Given the description of an element on the screen output the (x, y) to click on. 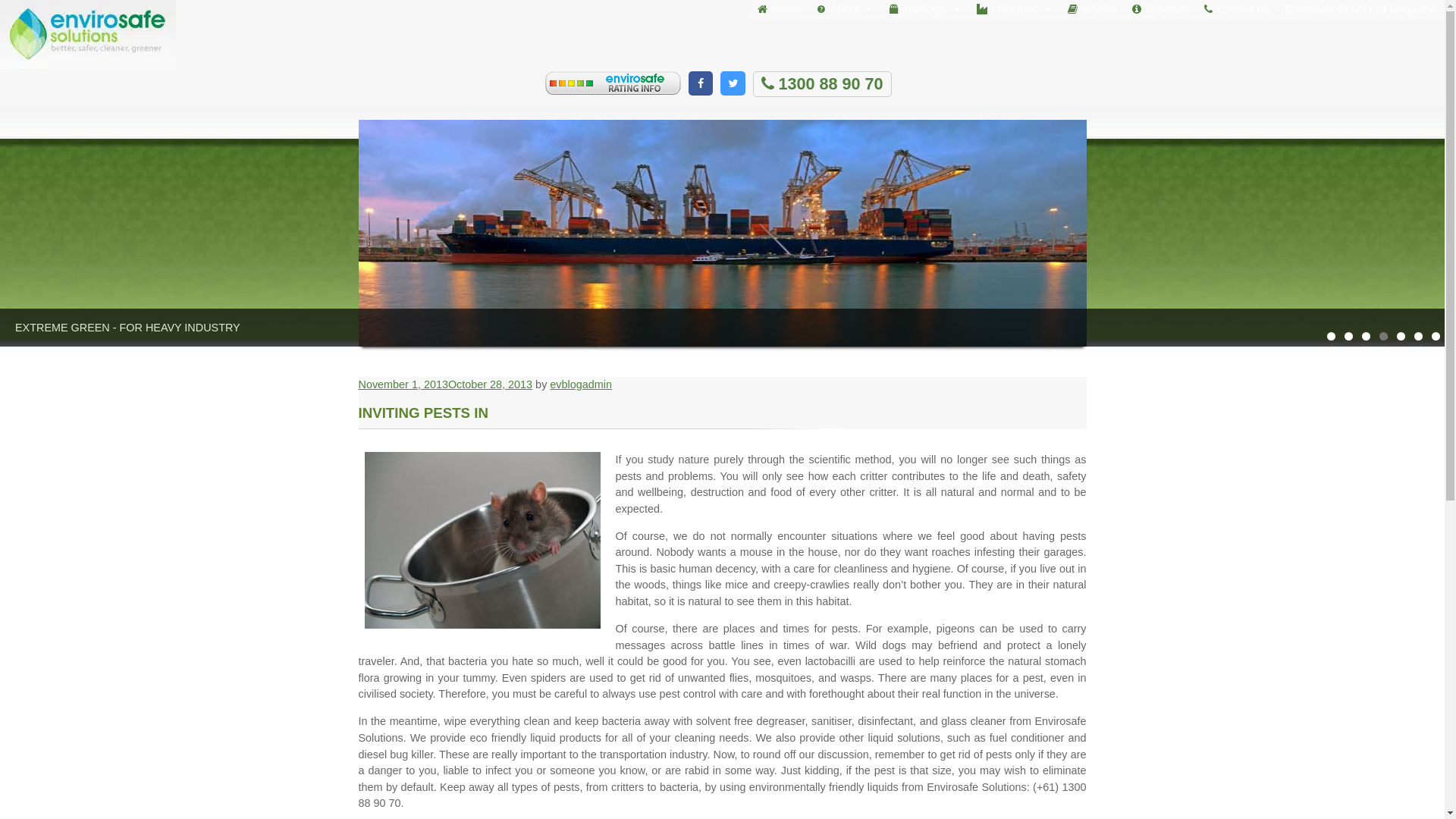
1 Element type: text (1331, 336)
About Element type: text (844, 9)
Articles Element type: text (1092, 9)
November 1, 2013October 28, 2013 Element type: text (444, 384)
Follow us on Facebook Element type: hover (700, 83)
5 Element type: text (1400, 336)
3 Element type: text (1365, 336)
4 Element type: text (1383, 336)
Envirosafe Rating Info Element type: hover (612, 82)
Industries Element type: text (1014, 9)
evblogadmin Element type: text (580, 384)
Home Element type: text (778, 9)
6 Element type: text (1418, 336)
Follow us on Twitter Element type: hover (732, 83)
Envirosafe COVID 19 Response Element type: text (1360, 9)
Products Element type: text (924, 9)
7 Element type: text (1435, 336)
Brochure Element type: text (1160, 9)
2 Element type: text (1348, 336)
Contact Us Element type: text (1236, 9)
Inviting Pests In Element type: hover (481, 539)
